Given the description of an element on the screen output the (x, y) to click on. 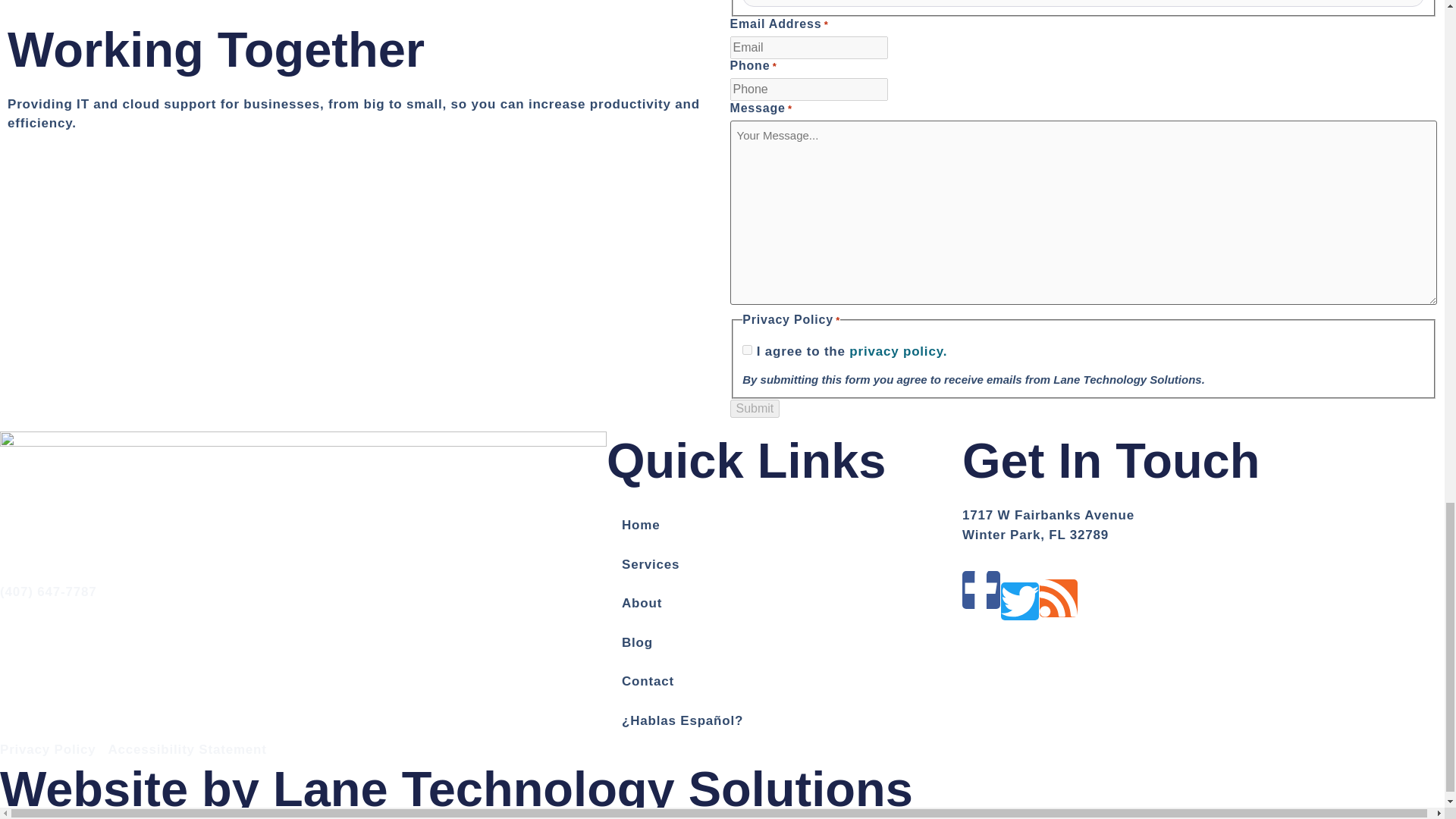
Submit (753, 408)
privacy policy. (897, 350)
1 (747, 349)
Submit (753, 408)
Home (784, 525)
